Given the description of an element on the screen output the (x, y) to click on. 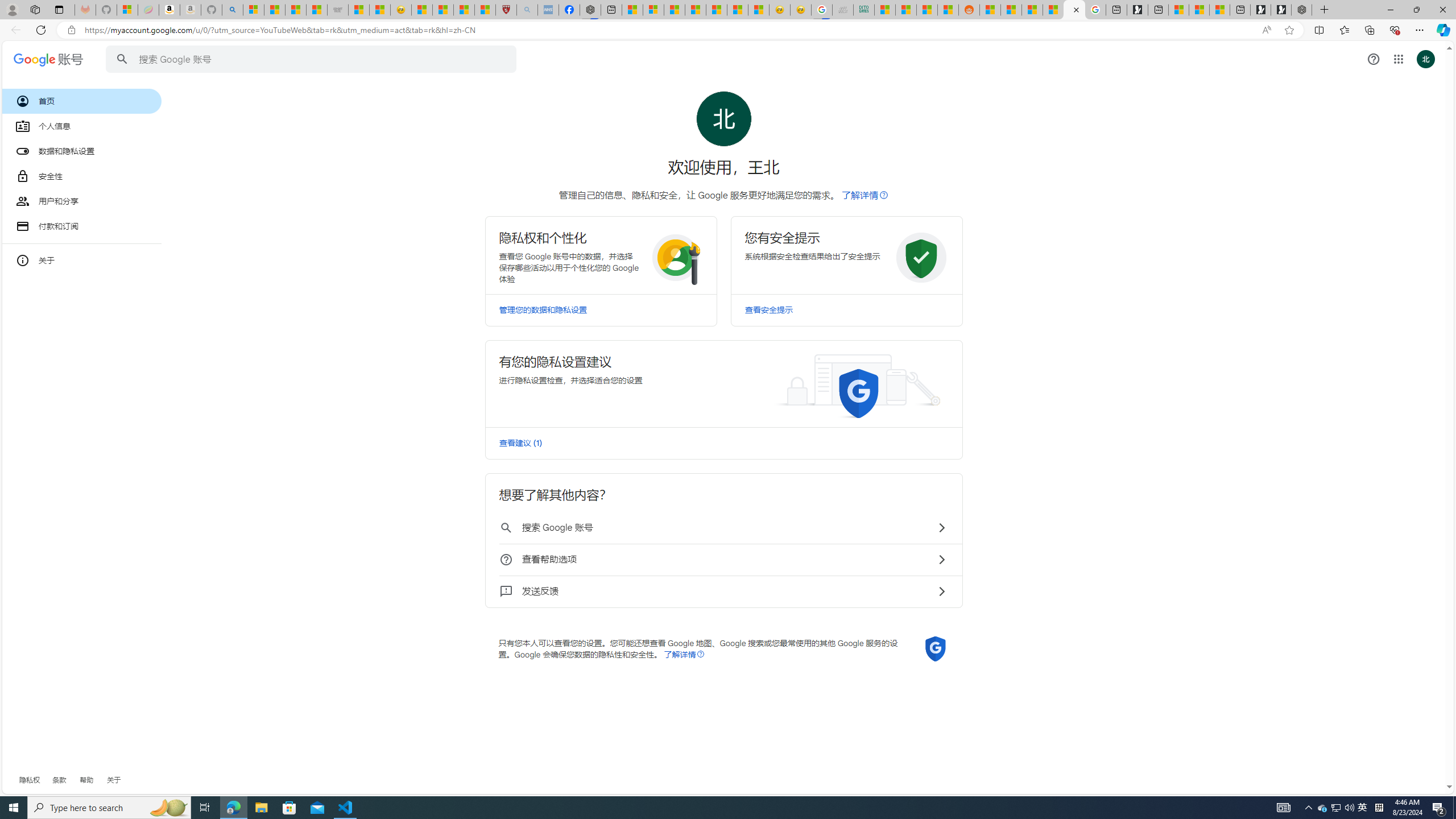
12 Popular Science Lies that Must be Corrected (485, 9)
